Given the description of an element on the screen output the (x, y) to click on. 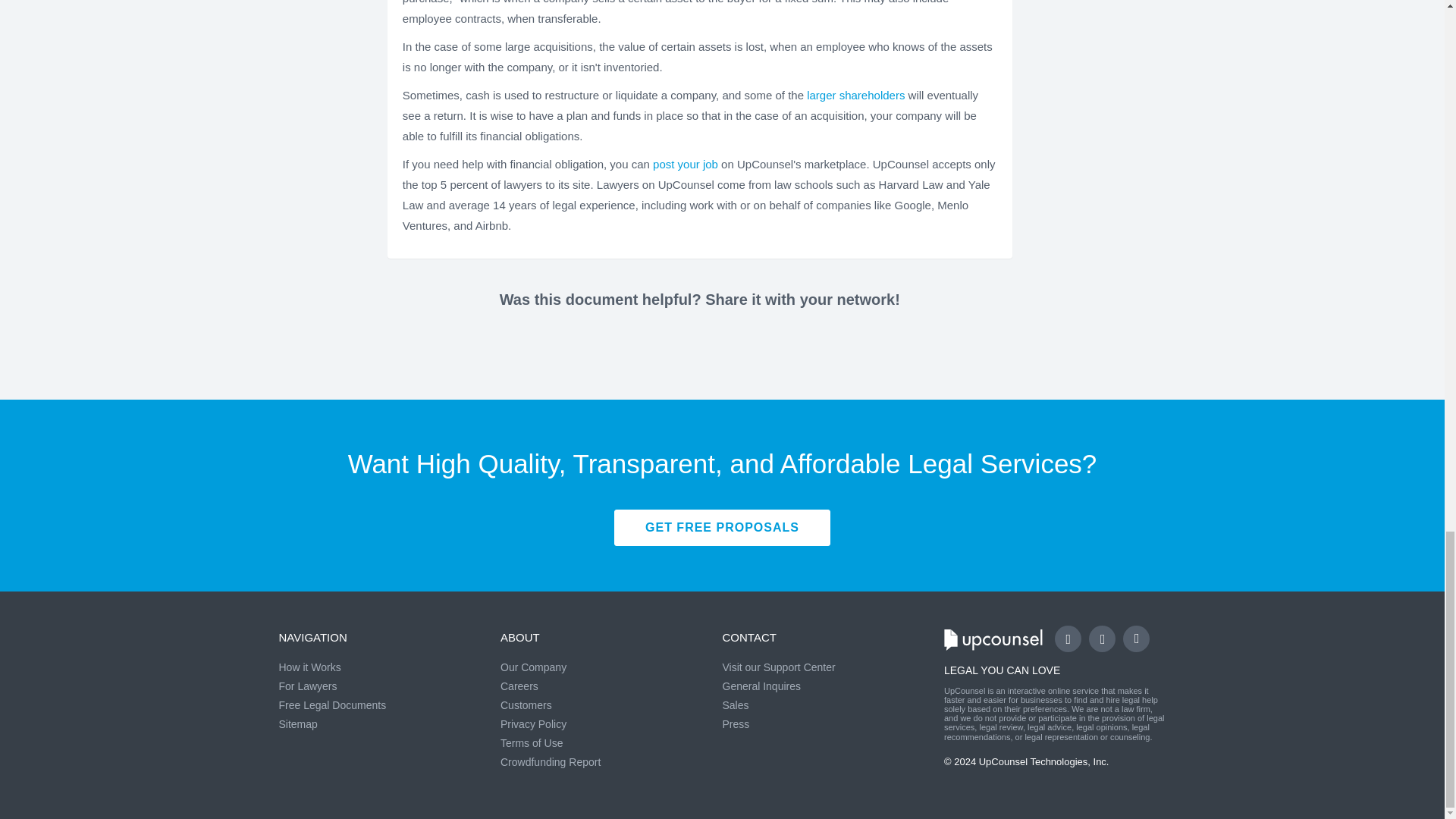
Connect with us on LinkedIn (1136, 638)
Follow us on Twitter (1102, 638)
larger shareholders (855, 94)
Like us on Facebook (1067, 638)
post your job (684, 164)
